Given the description of an element on the screen output the (x, y) to click on. 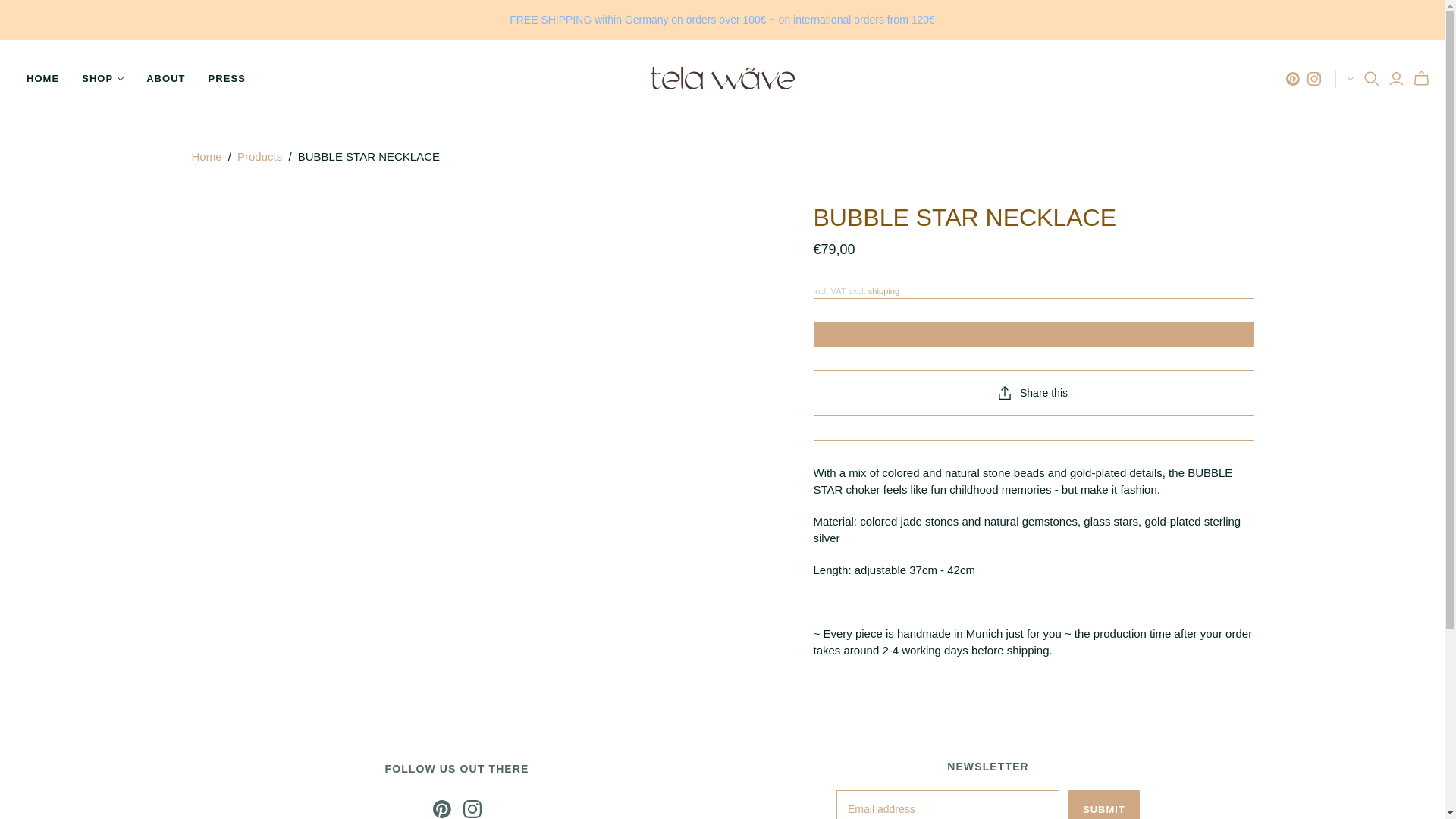
Instagram Icon (471, 809)
SHOP (102, 78)
Submit (1104, 804)
Pinterest Icon (440, 809)
PRESS (226, 78)
ABOUT (165, 78)
HOME (41, 78)
